Given the description of an element on the screen output the (x, y) to click on. 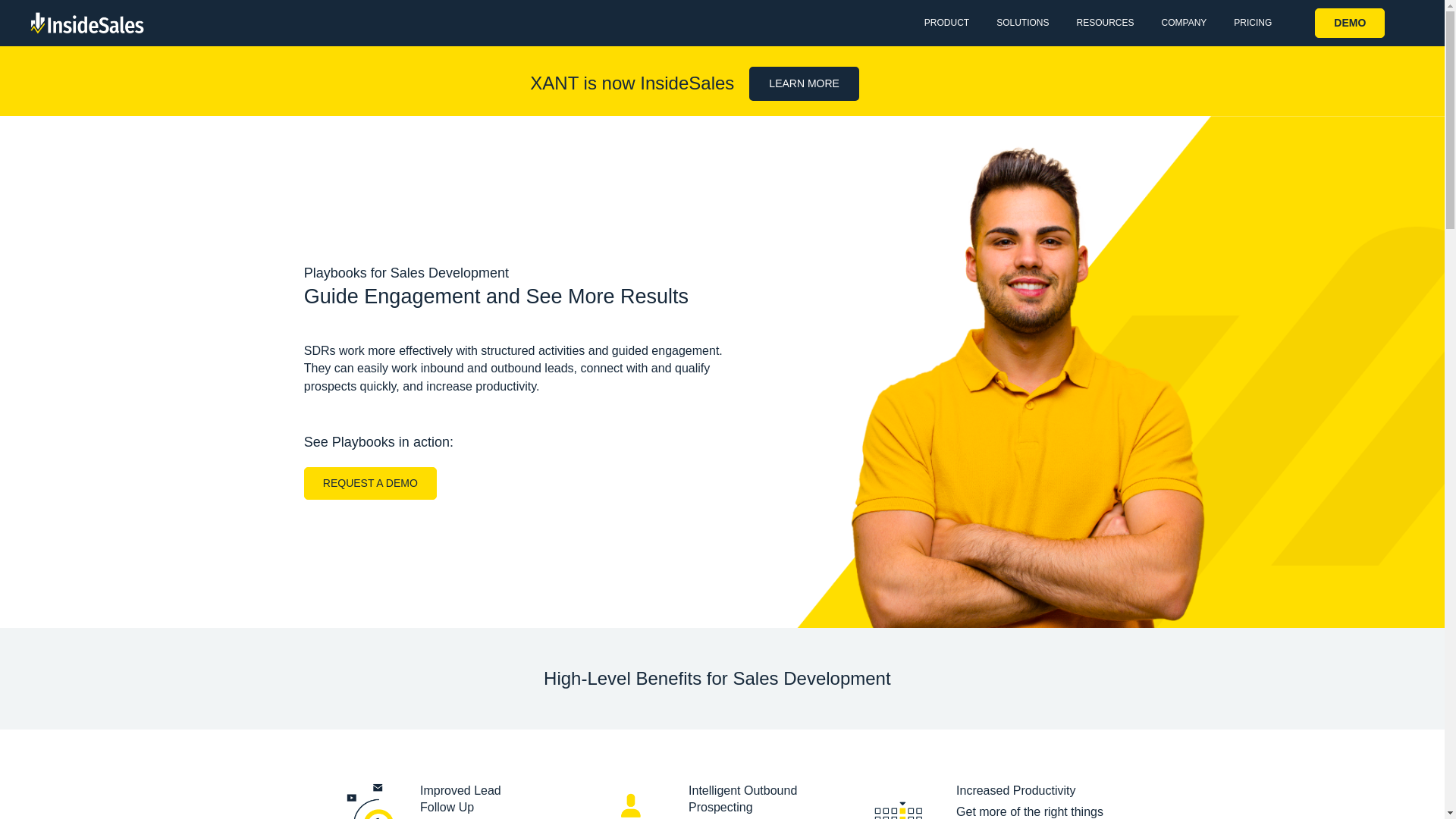
icon-Followup (362, 800)
icon-prospecting (631, 800)
PRODUCT (946, 22)
icon-engage (899, 800)
SOLUTIONS (1021, 22)
RESOURCES (1104, 22)
